Given the description of an element on the screen output the (x, y) to click on. 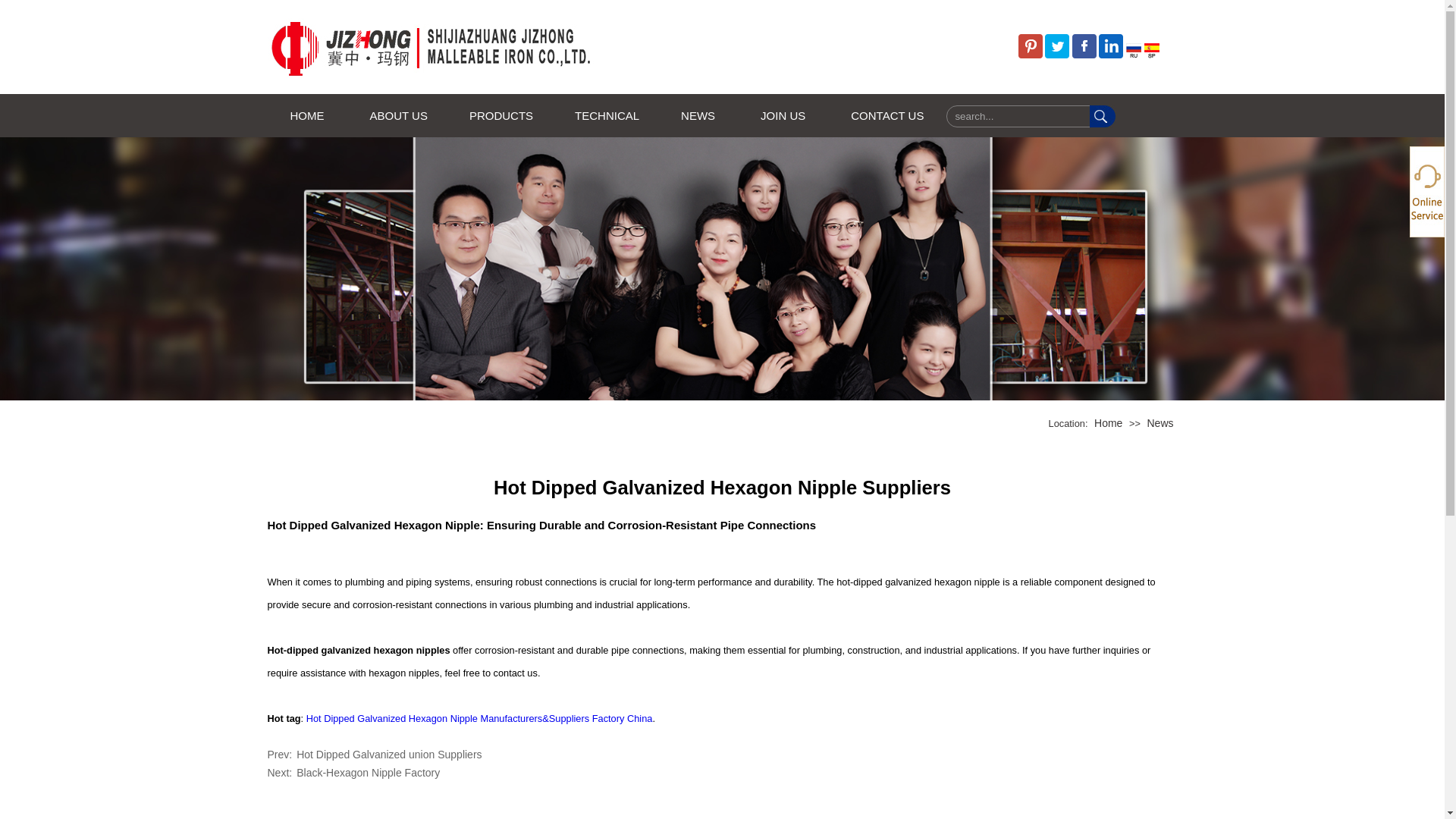
search... (1018, 116)
PRODUCTS (498, 115)
HOME (306, 115)
TECHNICAL (604, 115)
ABOUT US (396, 115)
